Given the description of an element on the screen output the (x, y) to click on. 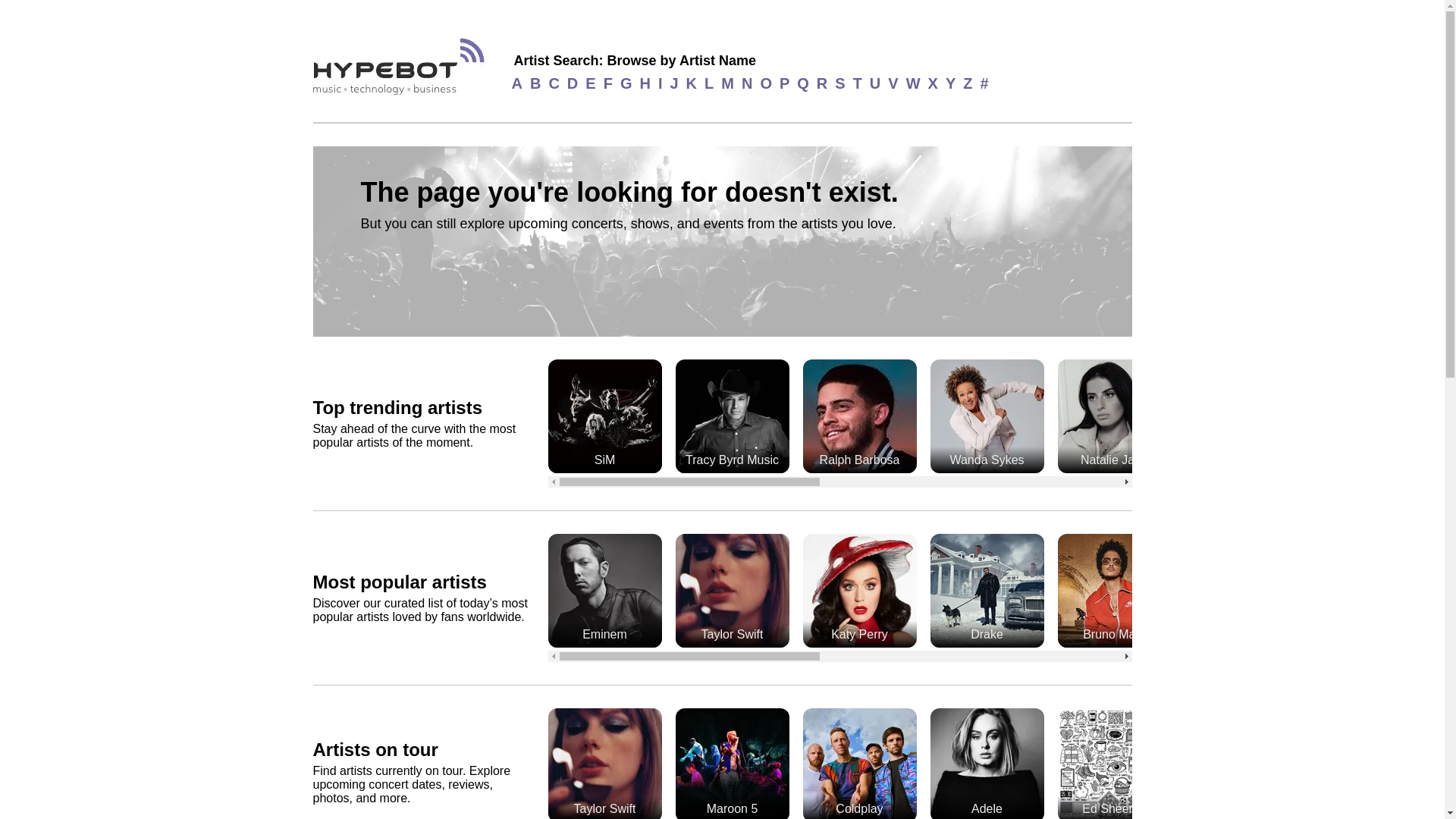
Taylor Swift (732, 591)
Jon Batiste (1368, 417)
SiM (604, 417)
Ralph Barbosa (858, 417)
Eminem (604, 591)
Natalie Jane (1113, 417)
Wanda Sykes (986, 417)
Tracy Byrd Music (732, 417)
